Given the description of an element on the screen output the (x, y) to click on. 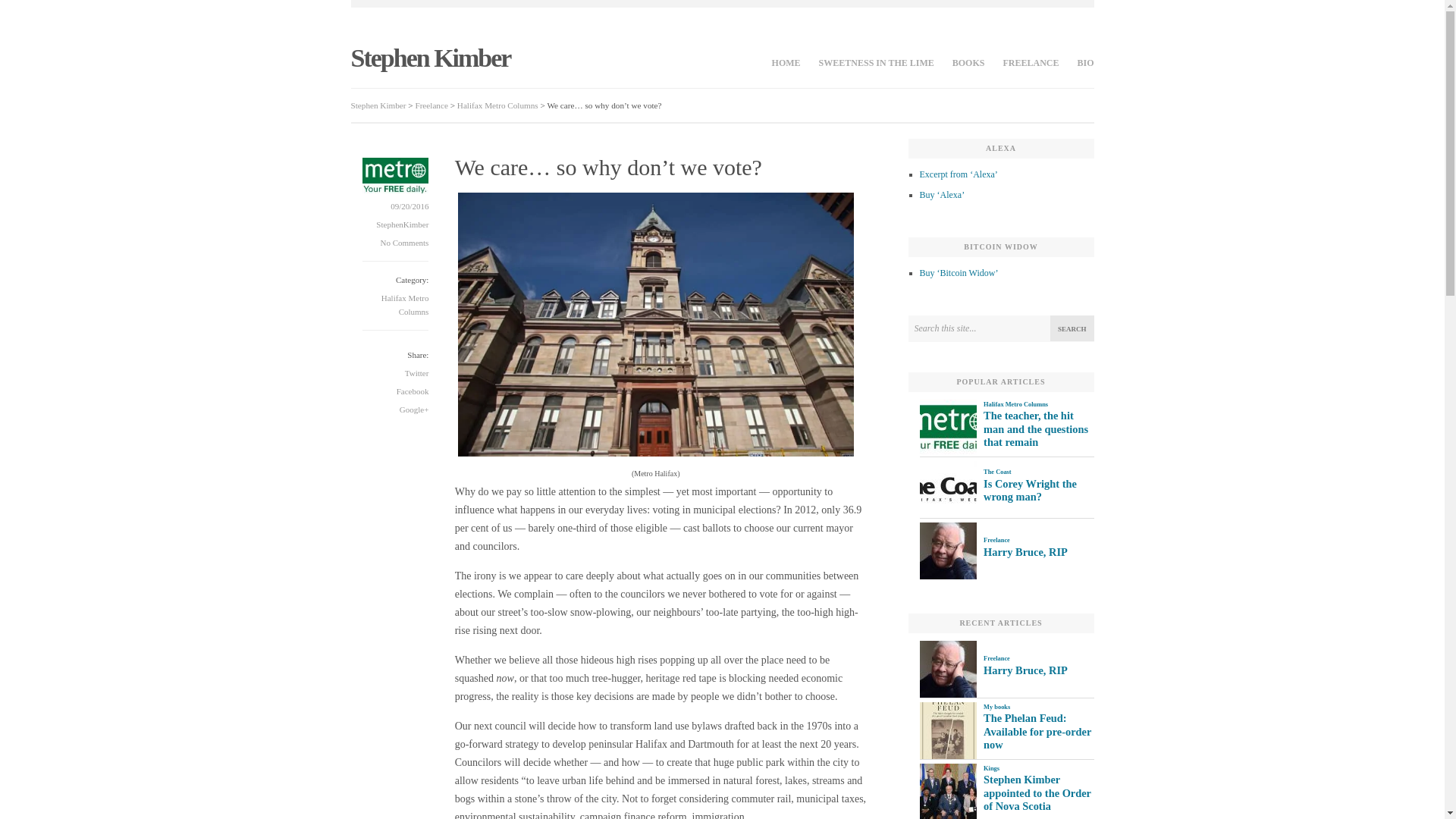
Go to Stephen Kimber. (378, 104)
FREELANCE (1029, 63)
Search this site... (1001, 328)
Freelance (430, 104)
Stephen Kimber (430, 58)
Halifax Metro Columns (497, 104)
Go to the Freelance Category archives. (430, 104)
No Comments (404, 242)
Stephen Kimber (430, 58)
BIO (1080, 63)
